Given the description of an element on the screen output the (x, y) to click on. 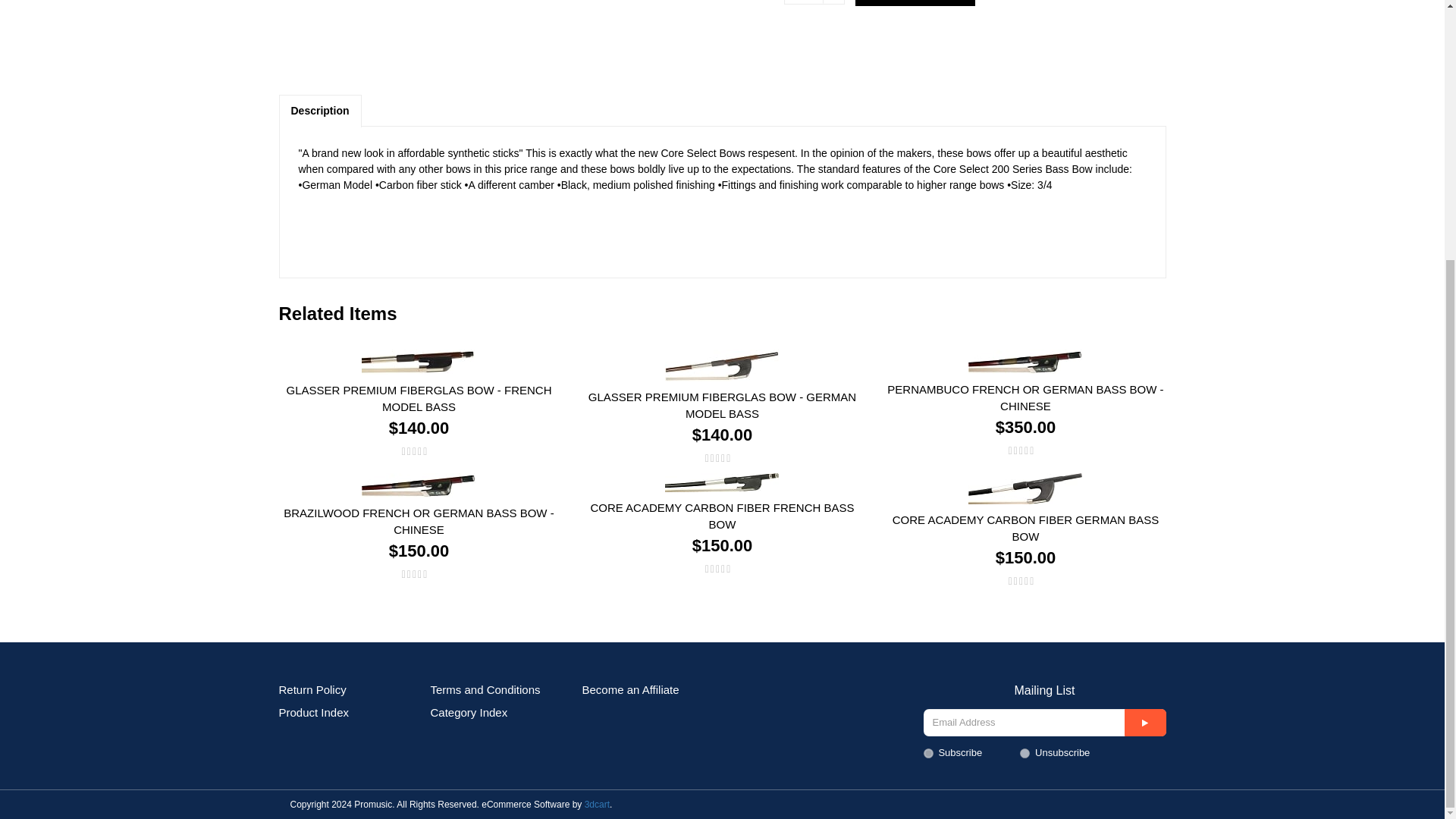
1 (814, 2)
1 (928, 753)
0 (1024, 753)
